Given the description of an element on the screen output the (x, y) to click on. 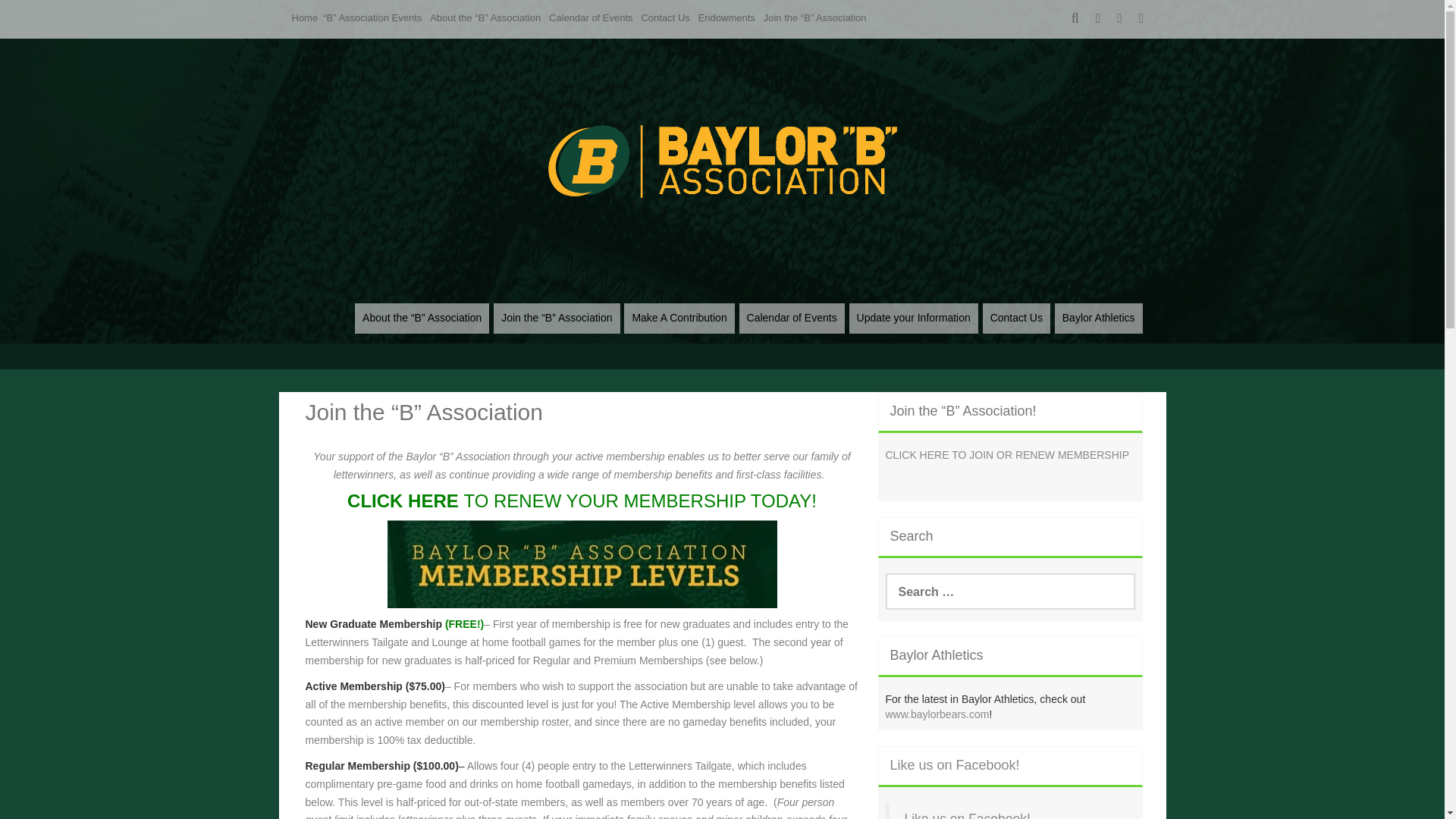
Contact Us (1015, 318)
Home (304, 18)
Like us on Facebook! (966, 815)
Calendar of Events (791, 318)
Update your Information (913, 318)
CLICK HERE (405, 500)
Calendar of Events (590, 18)
Endowments (726, 18)
Make A Contribution (678, 318)
www.baylorbears.com (937, 714)
Contact Us (665, 18)
Baylor Athletics (1098, 318)
CLICK HERE TO JOIN OR RENEW MEMBERSHIP (1007, 454)
Search (24, 9)
Like us on Facebook! (954, 765)
